Given the description of an element on the screen output the (x, y) to click on. 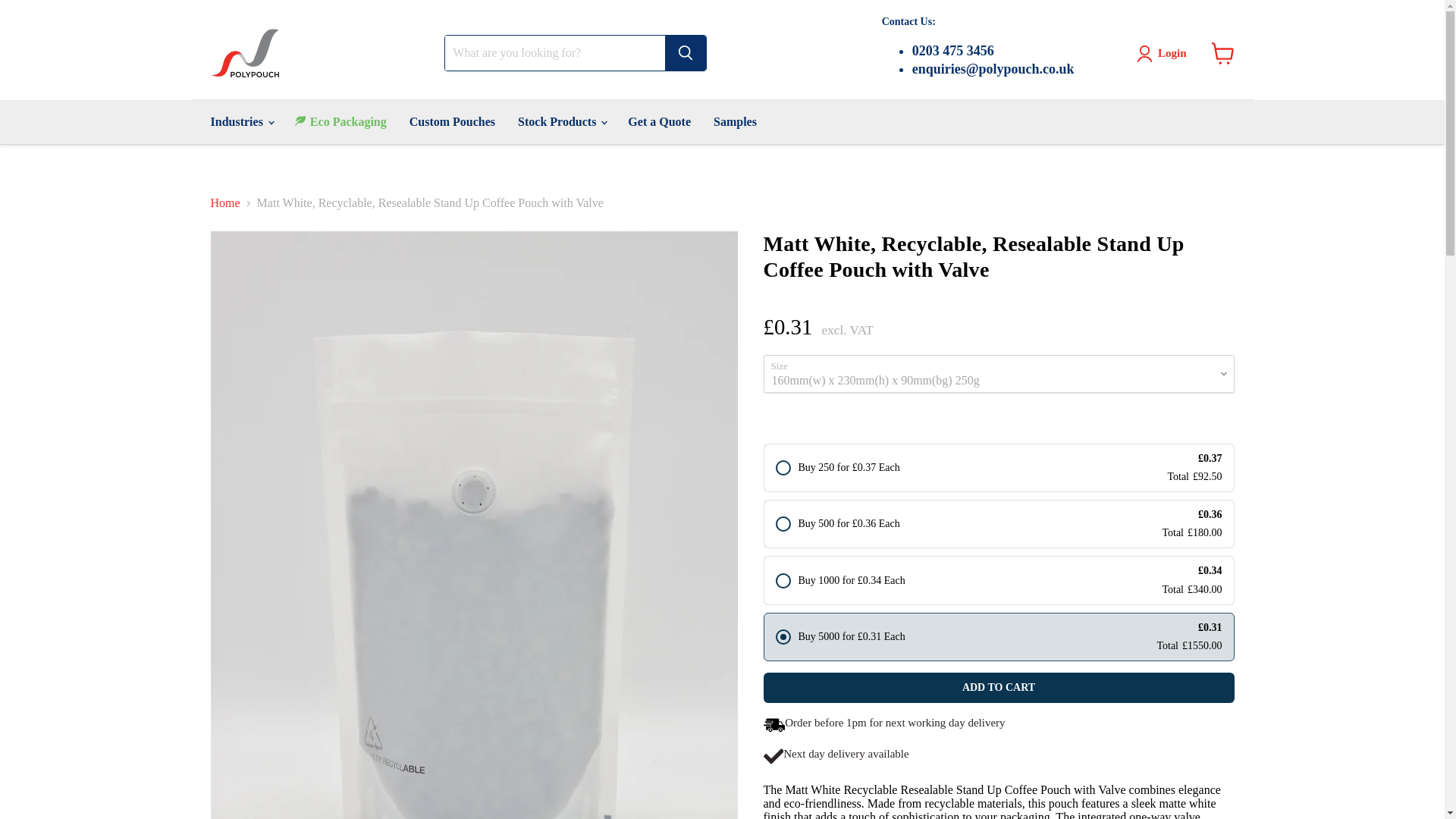
0203 475 3456 (993, 50)
Login (1171, 53)
View cart (1222, 53)
